Given the description of an element on the screen output the (x, y) to click on. 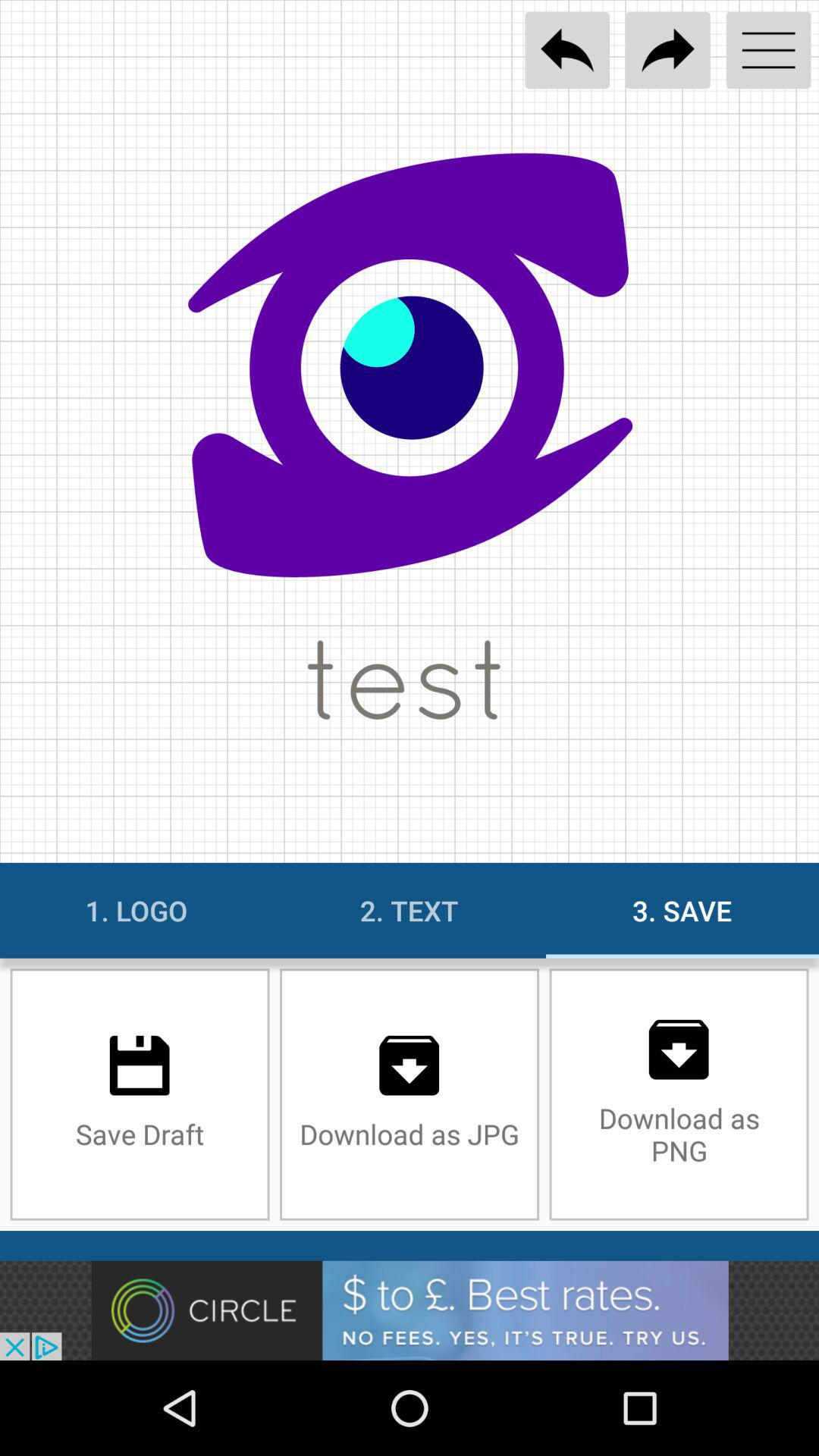
banner advertisement (409, 1310)
